Given the description of an element on the screen output the (x, y) to click on. 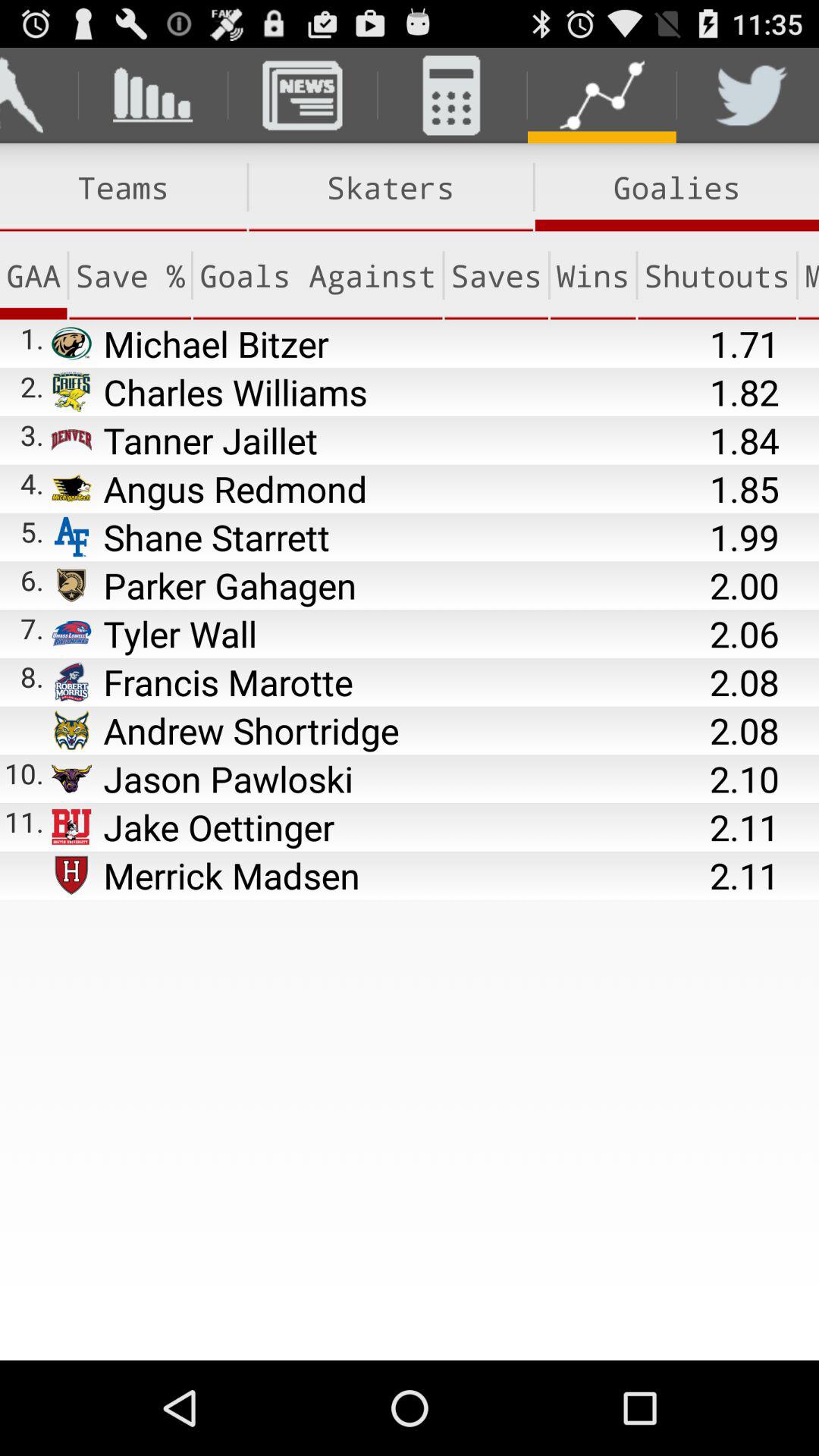
turn off the item to the right of the teams icon (390, 187)
